Given the description of an element on the screen output the (x, y) to click on. 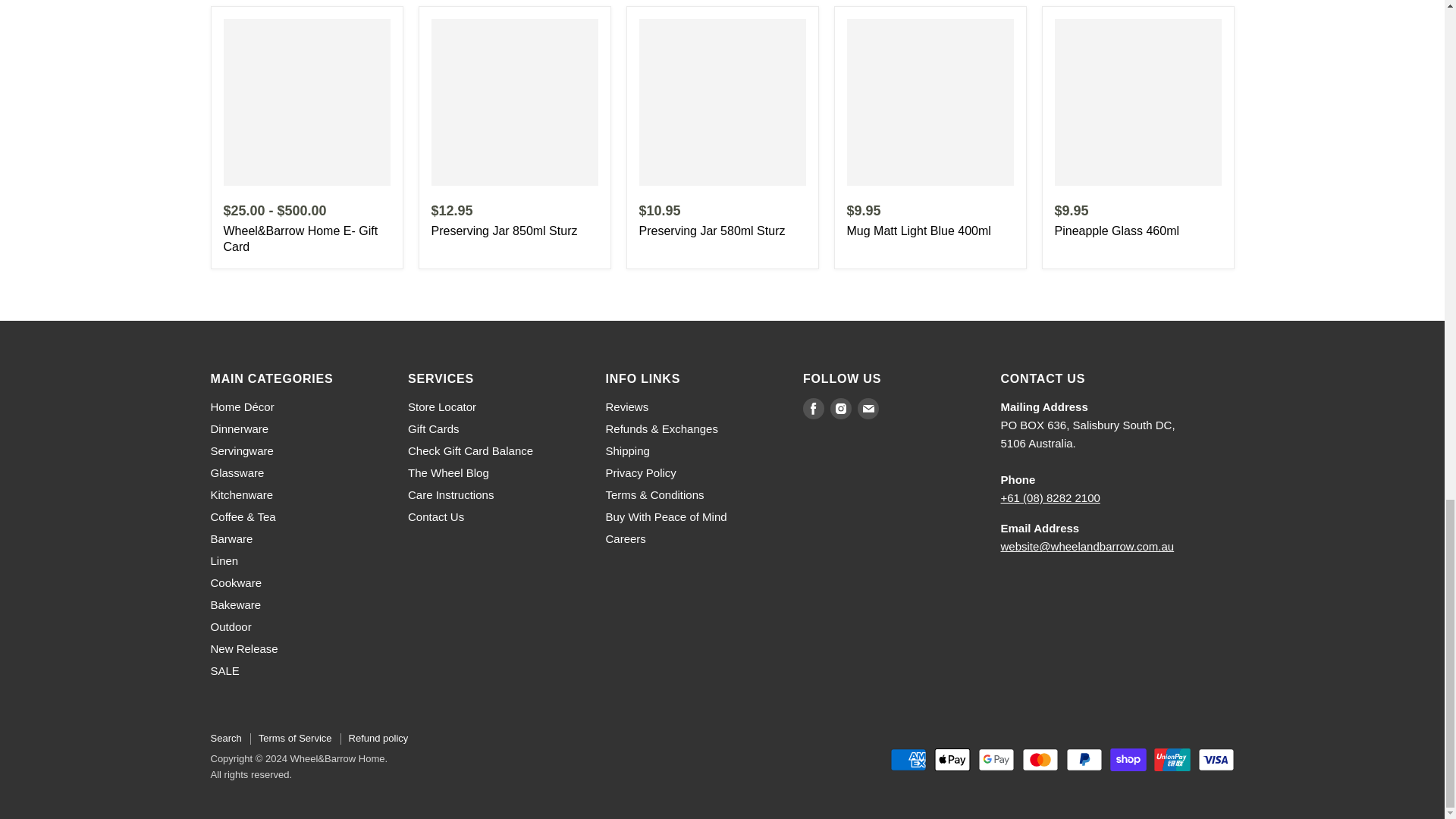
Instagram (840, 408)
Facebook (813, 408)
tel:0882822100 (1050, 497)
Email (868, 408)
